Given the description of an element on the screen output the (x, y) to click on. 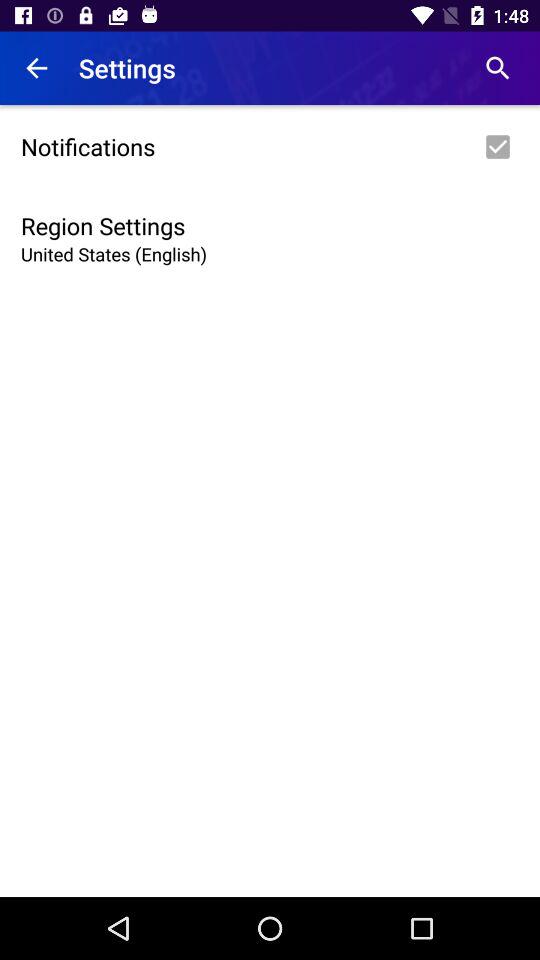
turn off item next to settings icon (36, 68)
